Given the description of an element on the screen output the (x, y) to click on. 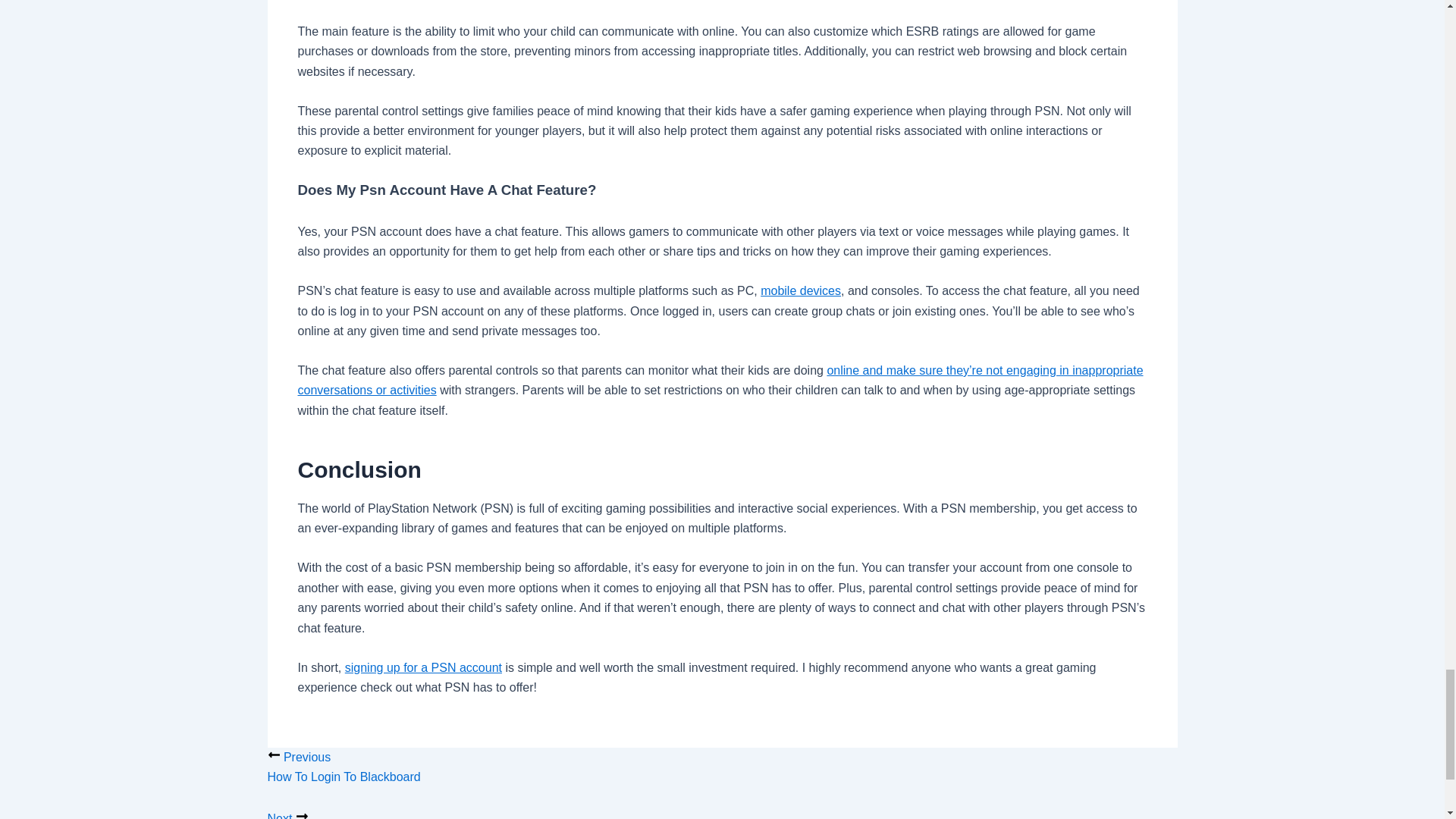
How To Login To Blackboard (721, 769)
